Given the description of an element on the screen output the (x, y) to click on. 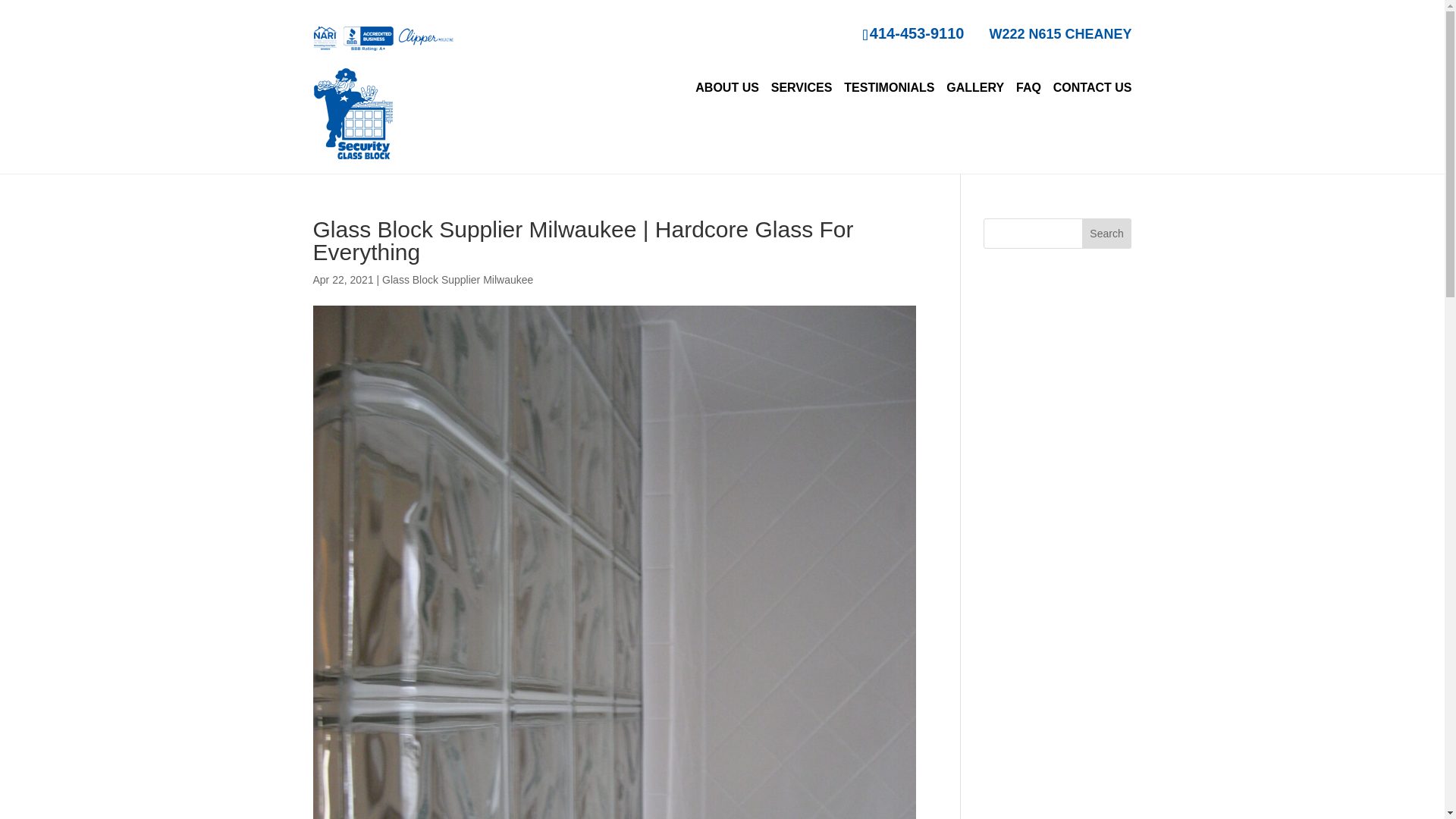
ABOUT US (726, 87)
CONTACT US (1092, 87)
Glass Block Supplier Milwaukee (456, 279)
414-453-9110 (913, 32)
Search (1106, 233)
GALLERY (975, 87)
Search (1106, 233)
TESTIMONIALS (889, 87)
SERVICES (801, 87)
FAQ (1028, 87)
